Given the description of an element on the screen output the (x, y) to click on. 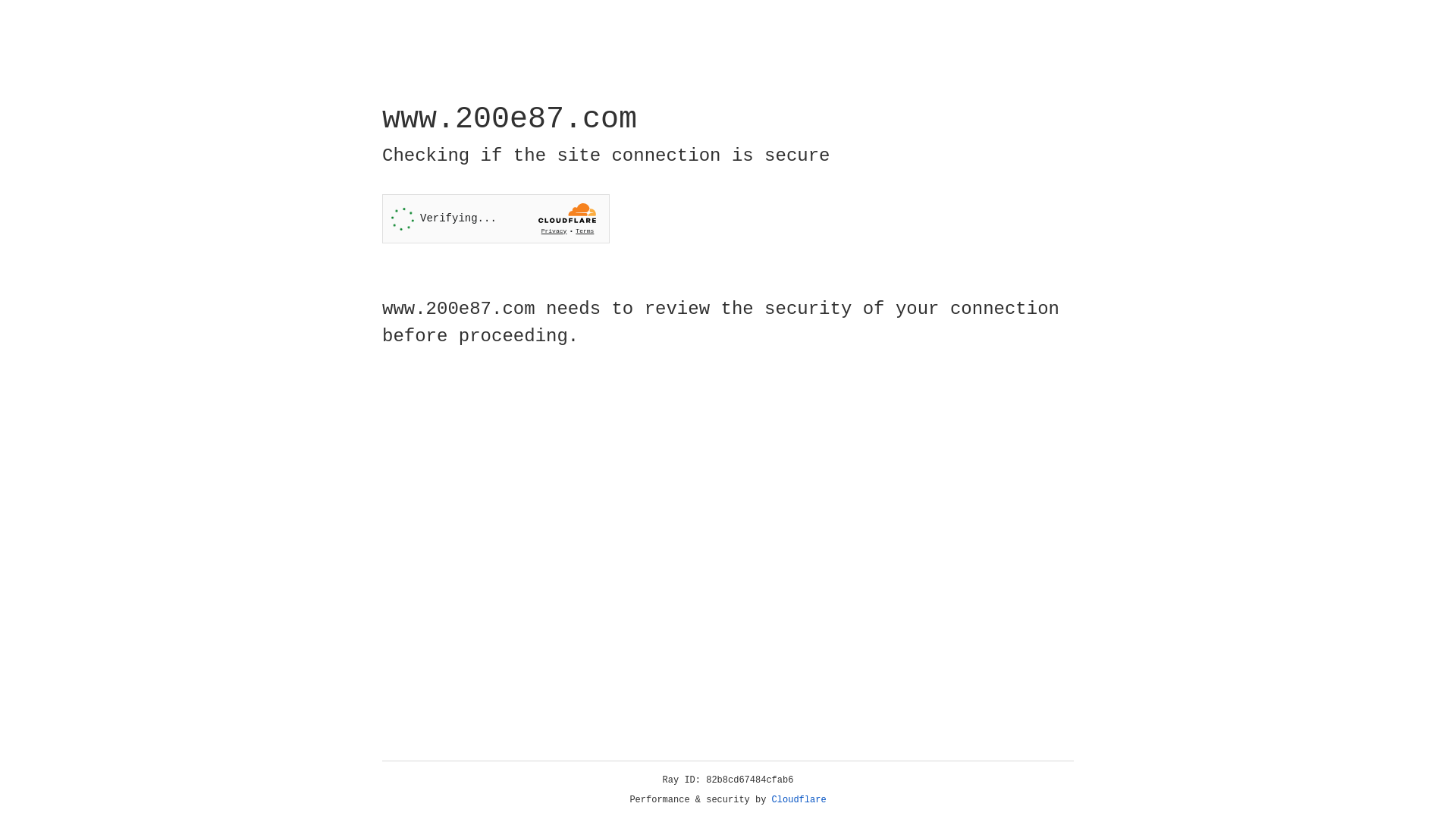
Widget containing a Cloudflare security challenge Element type: hover (495, 218)
Cloudflare Element type: text (798, 799)
